Given the description of an element on the screen output the (x, y) to click on. 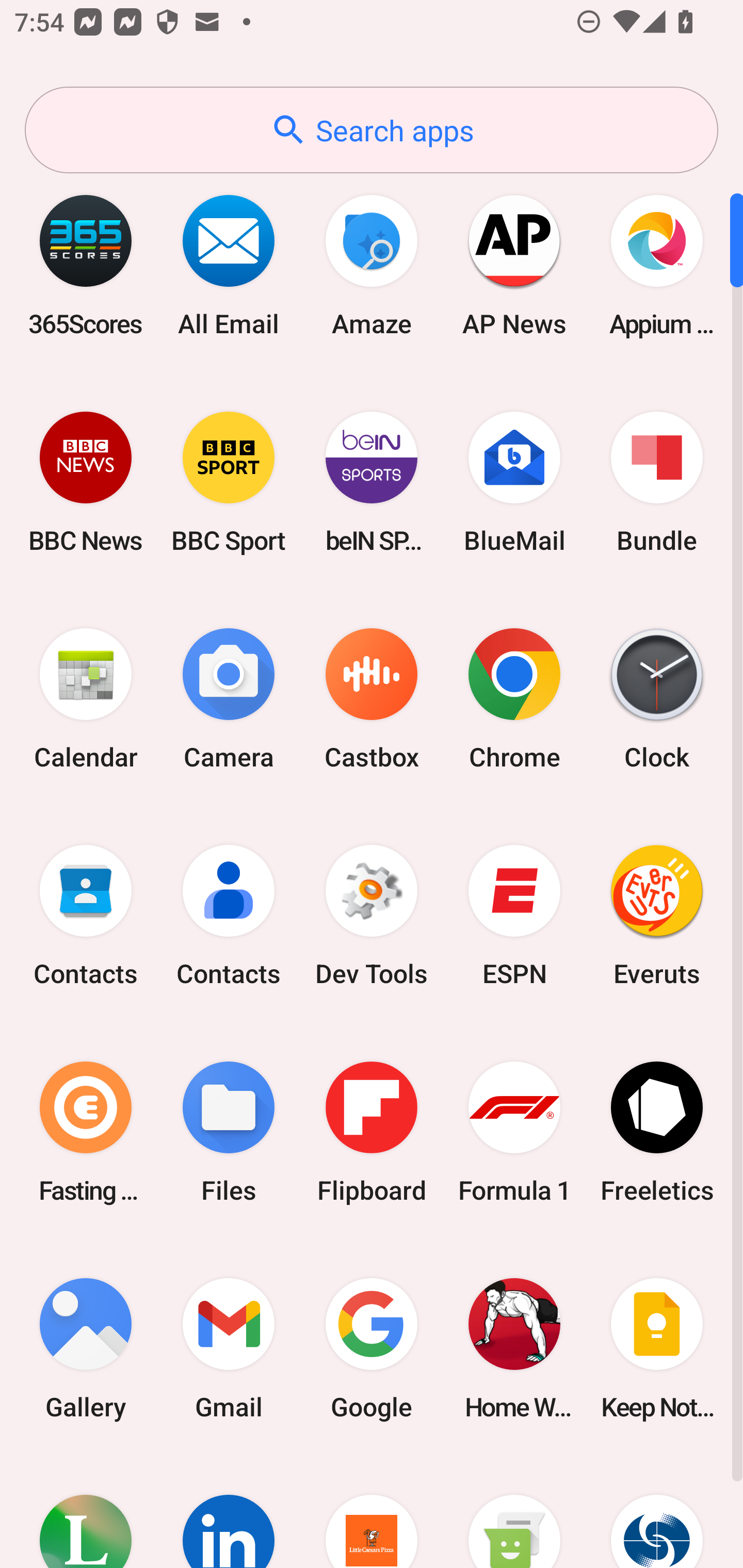
  Search apps (371, 130)
365Scores (85, 264)
All Email (228, 264)
Amaze (371, 264)
AP News (514, 264)
Appium Settings (656, 264)
BBC News (85, 482)
BBC Sport (228, 482)
beIN SPORTS (371, 482)
BlueMail (514, 482)
Bundle (656, 482)
Calendar (85, 699)
Camera (228, 699)
Castbox (371, 699)
Chrome (514, 699)
Clock (656, 699)
Contacts (85, 915)
Contacts (228, 915)
Dev Tools (371, 915)
ESPN (514, 915)
Everuts (656, 915)
Fasting Coach (85, 1131)
Files (228, 1131)
Flipboard (371, 1131)
Formula 1 (514, 1131)
Freeletics (656, 1131)
Gallery (85, 1348)
Gmail (228, 1348)
Google (371, 1348)
Home Workout (514, 1348)
Keep Notes (656, 1348)
